Given the description of an element on the screen output the (x, y) to click on. 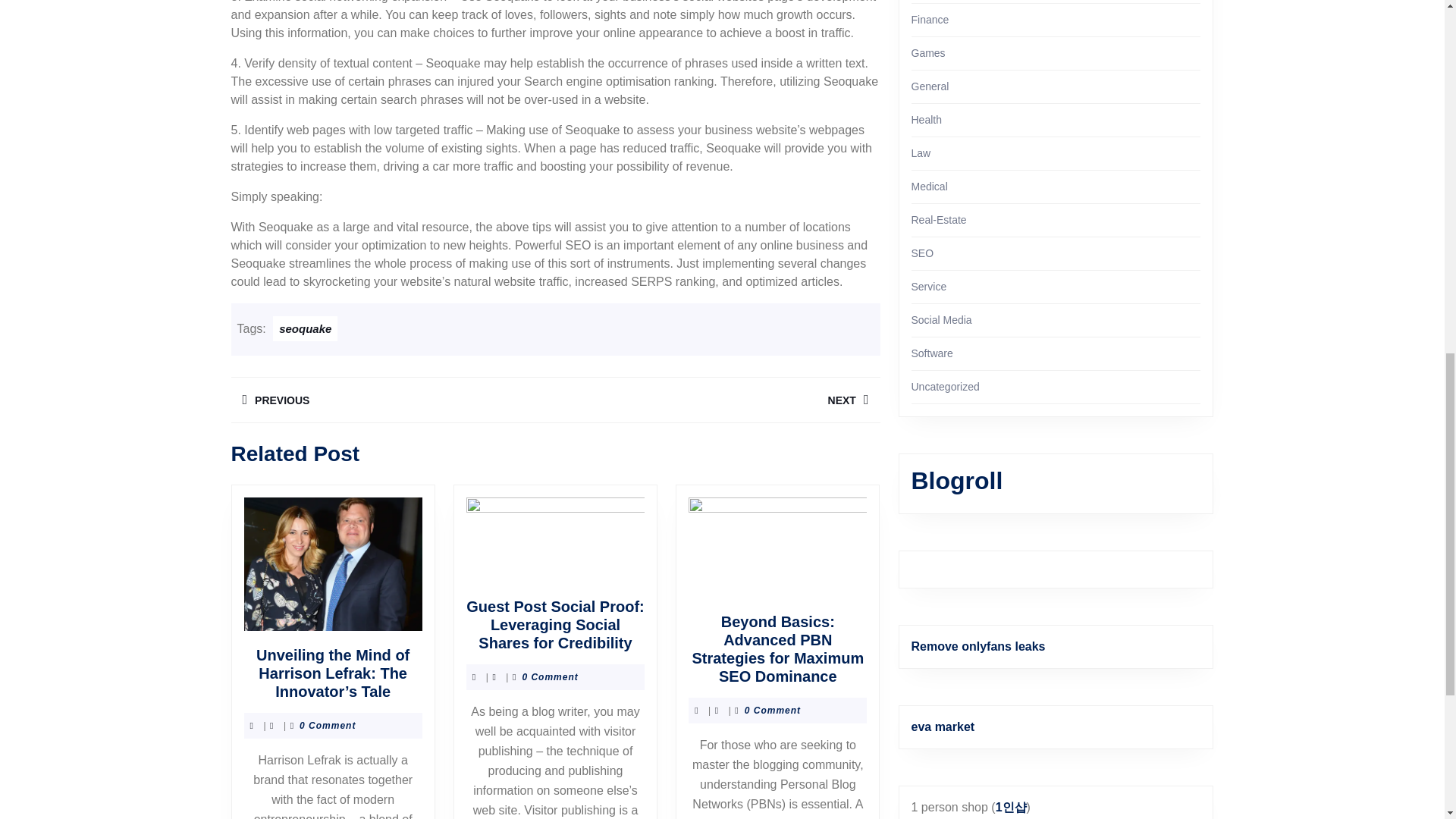
seoquake (305, 328)
